Given the description of an element on the screen output the (x, y) to click on. 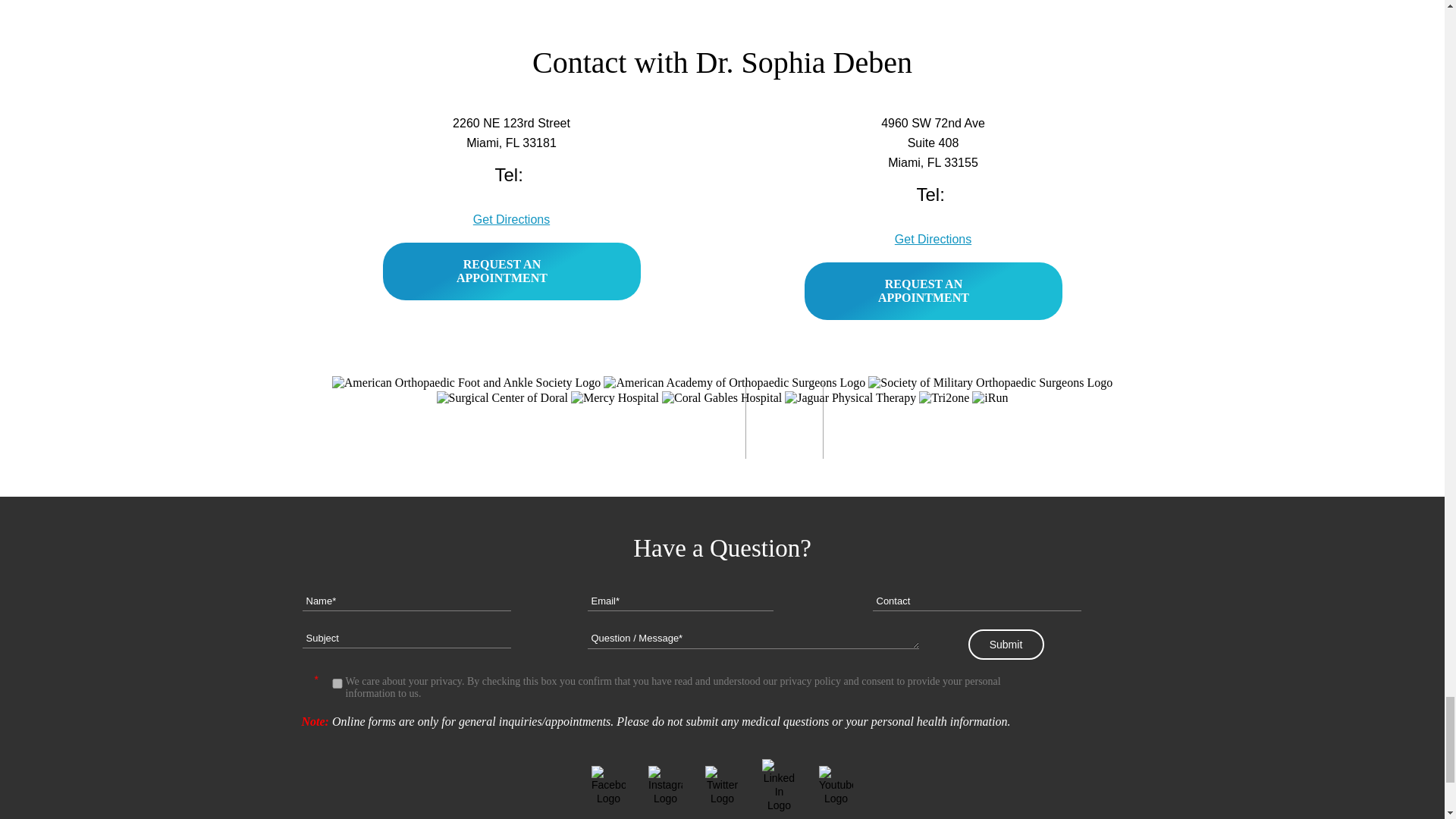
Your Email is required. (679, 600)
Privacy Policy (809, 681)
Submit (1005, 644)
Your message is required. (752, 638)
Your Name is required. (406, 600)
Please agree to the privacy policy (336, 683)
